Given the description of an element on the screen output the (x, y) to click on. 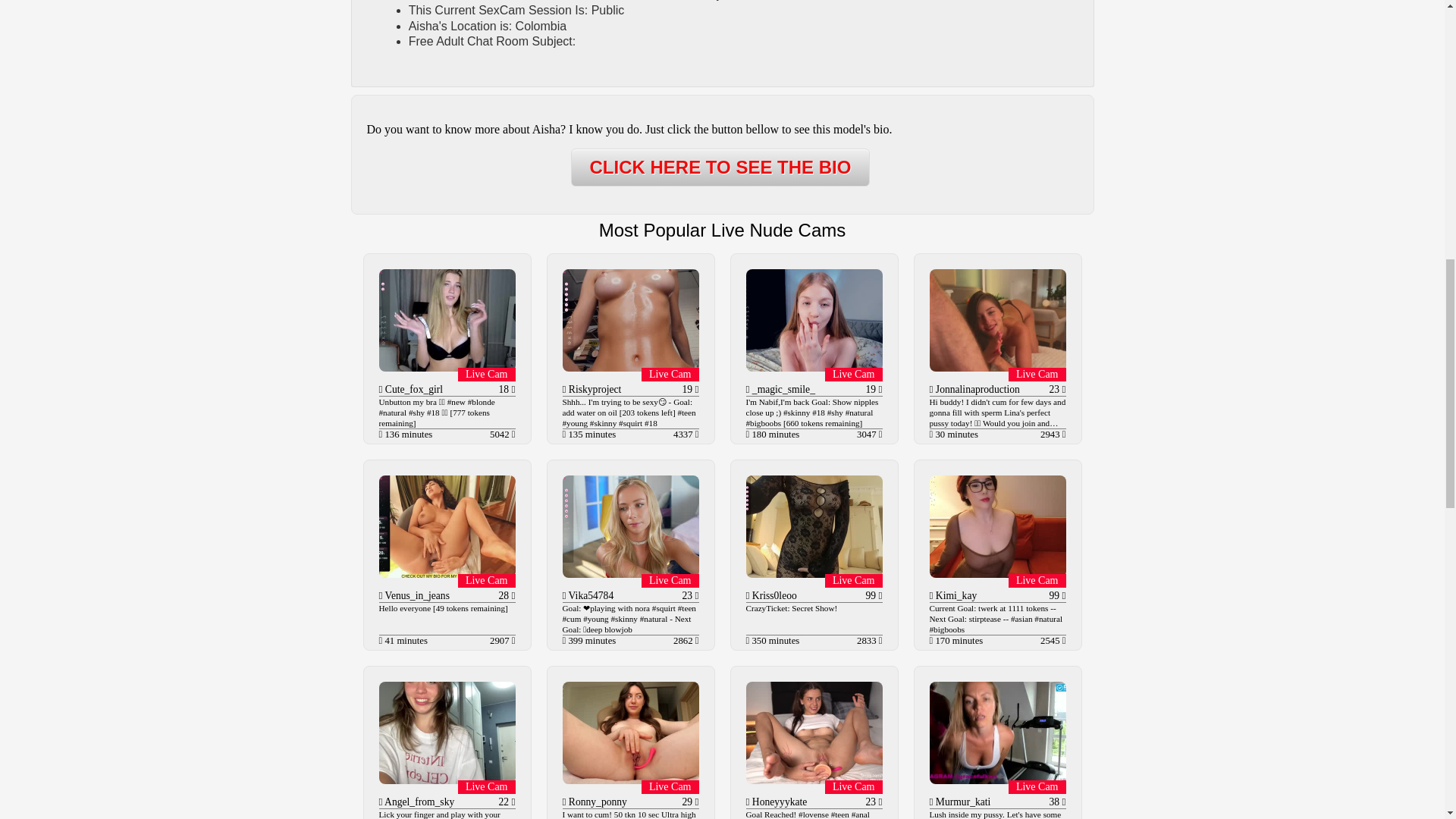
Jonnalinaproduction (976, 389)
CLICK HERE TO SEE THE BIO (719, 167)
Kriss0leoo (772, 595)
Honeyyykate (777, 801)
Vika54784 (589, 595)
Riskyproject (593, 389)
